Given the description of an element on the screen output the (x, y) to click on. 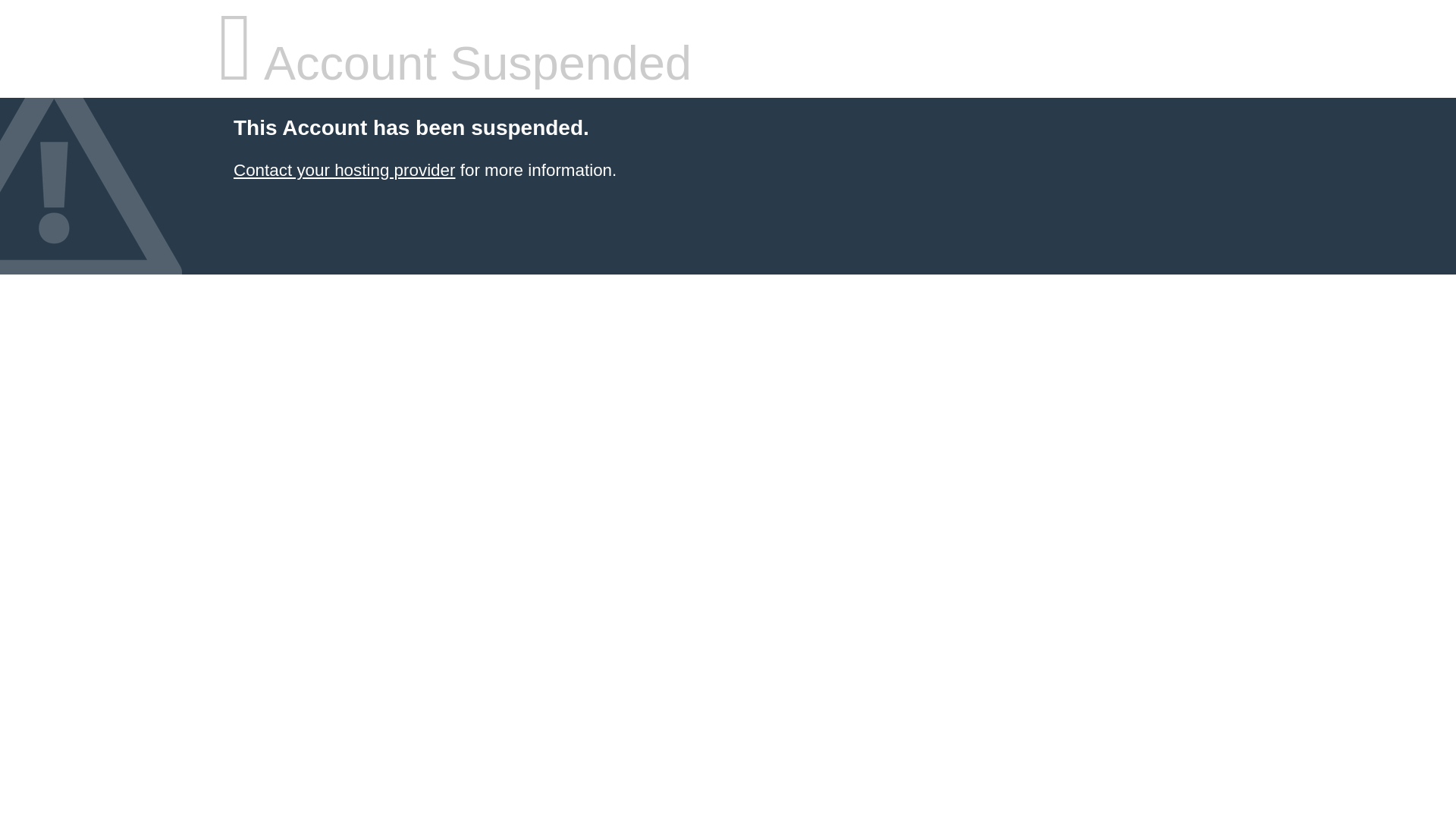
GreenGeeks LLC (343, 169)
Contact your hosting provider (343, 169)
